Given the description of an element on the screen output the (x, y) to click on. 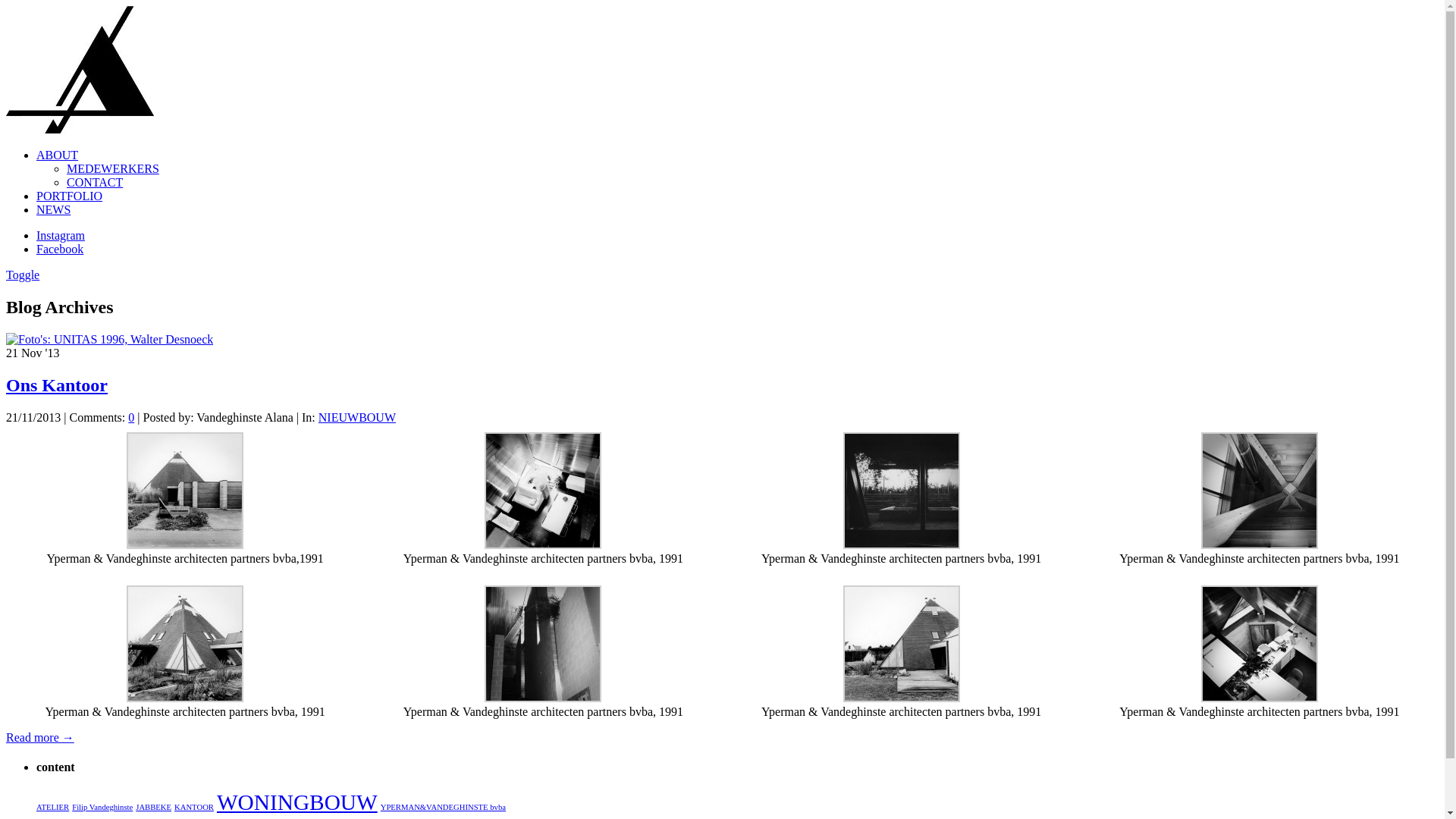
Toggle Element type: text (22, 274)
MEDEWERKERS Element type: text (112, 168)
Facebook Element type: text (59, 248)
NIEUWBOUW Element type: text (356, 417)
JABBEKE Element type: text (153, 807)
ABOUT Element type: text (57, 154)
0 Element type: text (131, 417)
Filip Vandeghinste Element type: text (102, 807)
Instagram Element type: text (60, 235)
CONTACT Element type: text (94, 181)
ARPRO architecten bvba Element type: hover (79, 128)
Ons Kantoor Element type: text (56, 385)
KANTOOR Element type: text (193, 807)
ATELIER Element type: text (52, 807)
YPERMAN&VANDEGHINSTE bvba Element type: text (442, 807)
NEWS Element type: text (53, 209)
WONINGBOUW Element type: text (296, 802)
Ons Kantoor Element type: hover (109, 338)
PORTFOLIO Element type: text (69, 195)
